Given the description of an element on the screen output the (x, y) to click on. 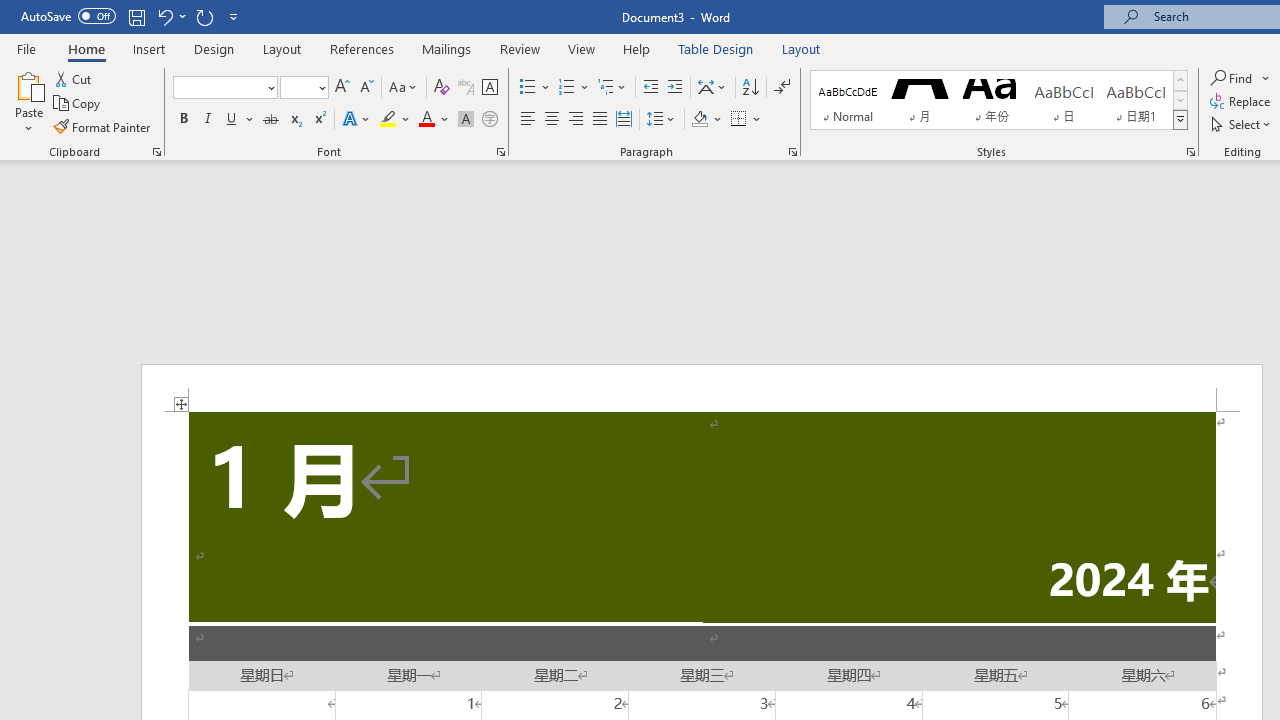
Copy (78, 103)
Multilevel List (613, 87)
Sort... (750, 87)
Line and Paragraph Spacing (661, 119)
Undo Distribute Para (164, 15)
Select (1242, 124)
Row up (1179, 79)
AutomationID: QuickStylesGallery (999, 99)
Center (552, 119)
